Given the description of an element on the screen output the (x, y) to click on. 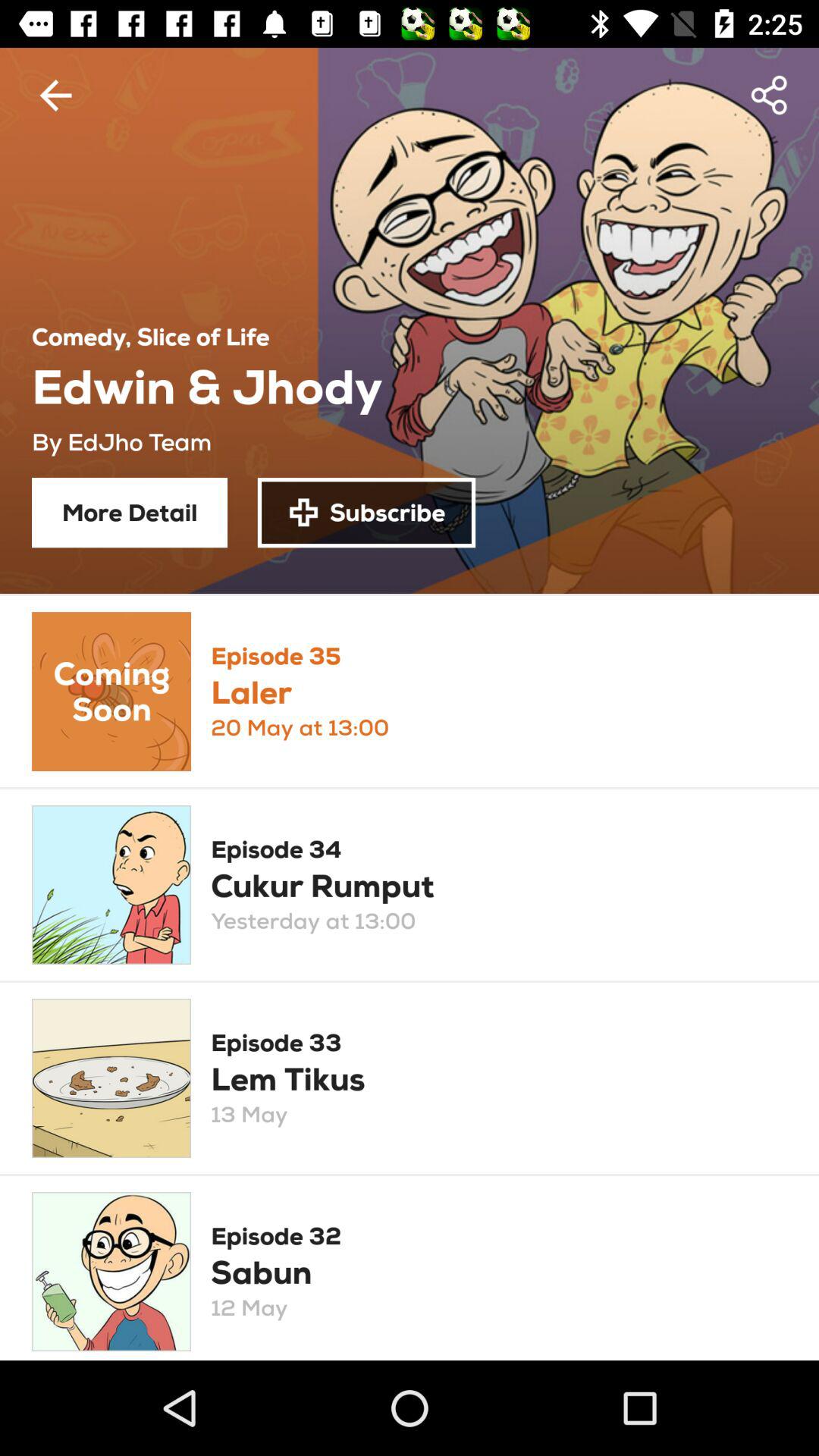
select the item to the right of the more detail (366, 512)
